Given the description of an element on the screen output the (x, y) to click on. 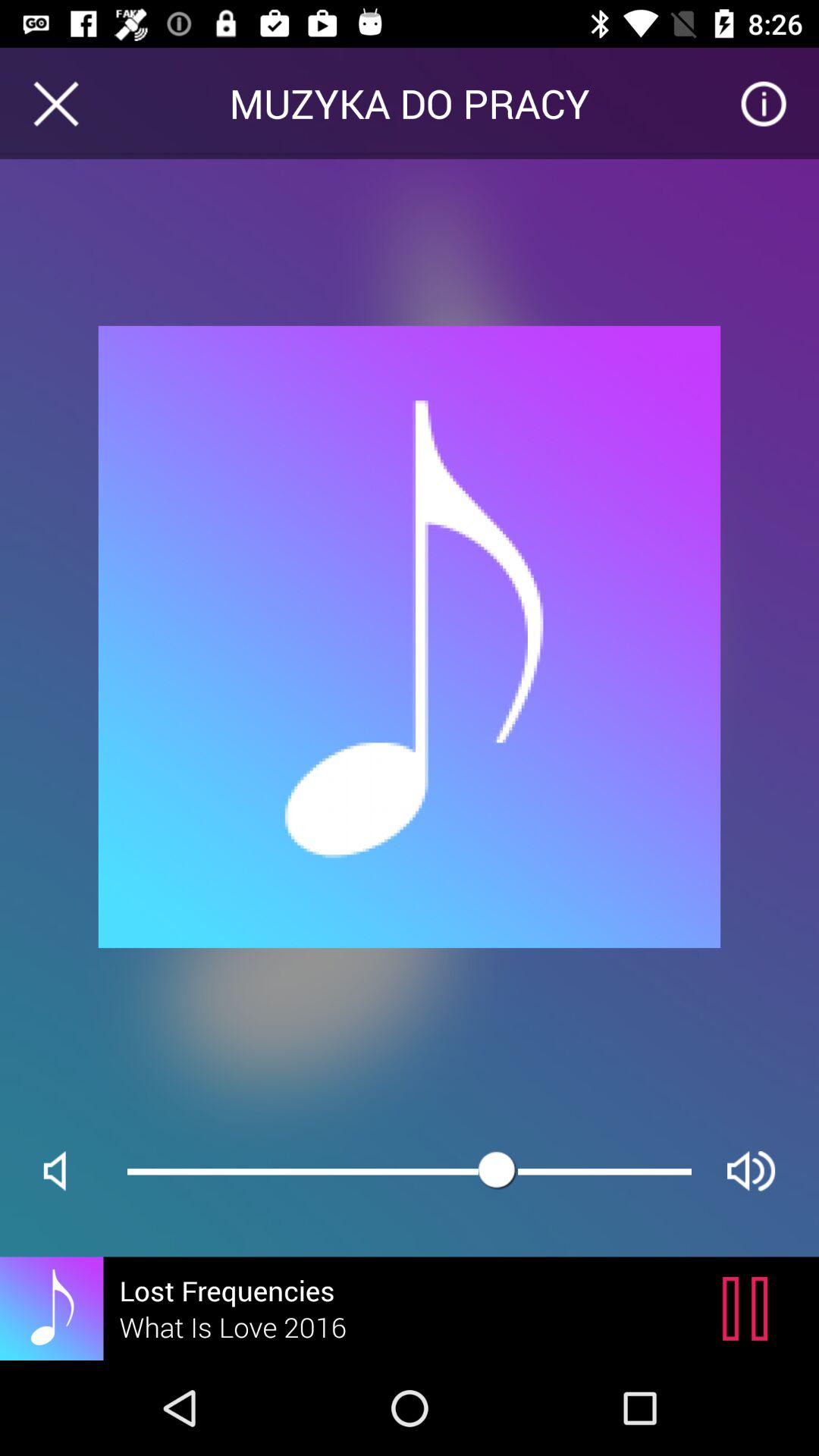
turn off icon to the left of muzyka do pracy item (55, 103)
